Given the description of an element on the screen output the (x, y) to click on. 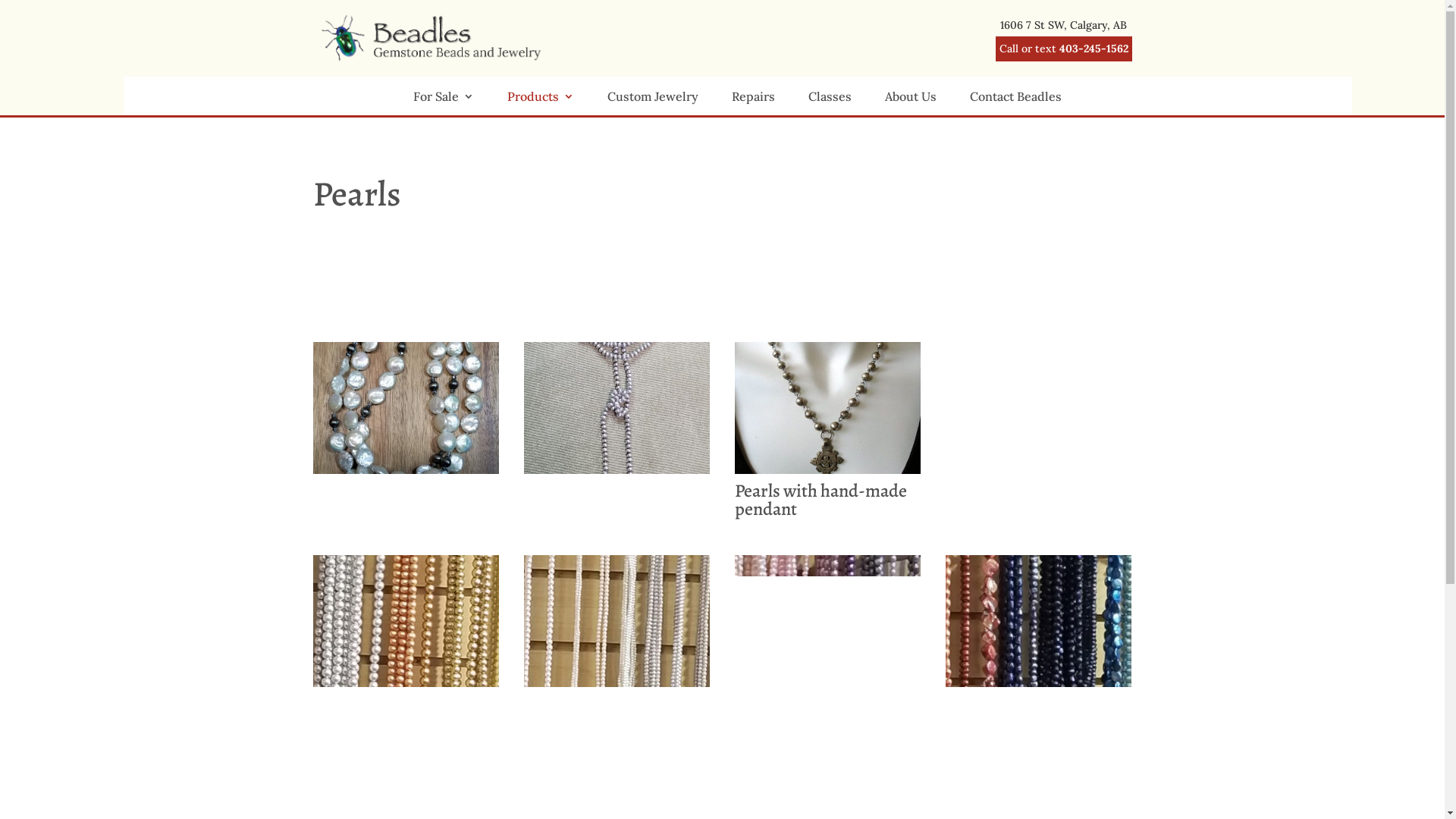
About Us Element type: text (910, 103)
Custom Jewelry Element type: text (652, 103)
Repairs Element type: text (753, 103)
Pearls with hand-made pendant Element type: hover (827, 469)
Contact Beadles Element type: text (1015, 103)
Classes Element type: text (829, 103)
Products Element type: text (540, 103)
For Sale Element type: text (443, 103)
